Given the description of an element on the screen output the (x, y) to click on. 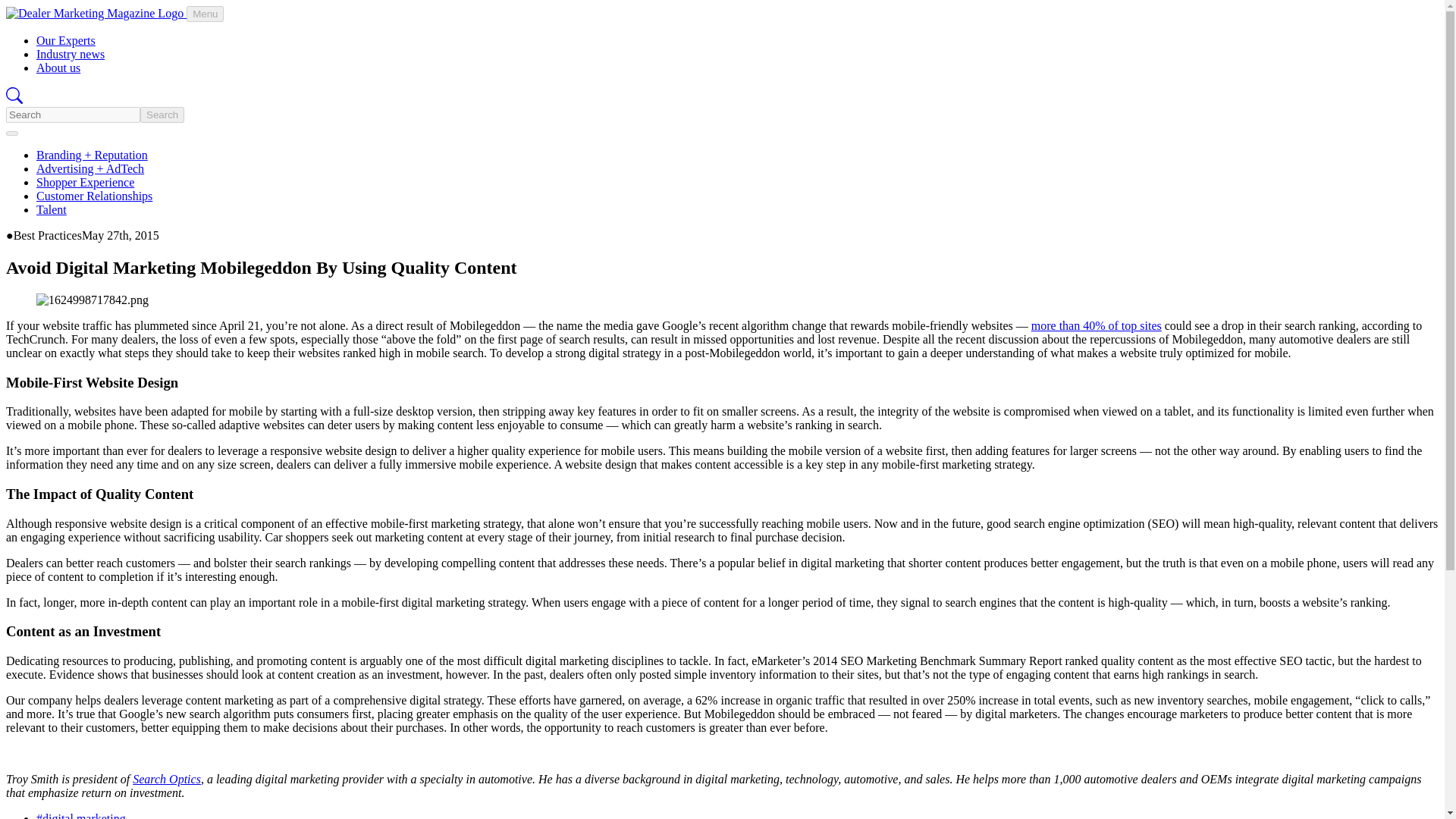
Shopper Experience (84, 182)
Our Experts (66, 40)
Talent (51, 209)
Industry news (70, 53)
Menu (205, 13)
Search (161, 114)
About us (58, 67)
Search Optics (166, 779)
Customer Relationships (94, 195)
